Given the description of an element on the screen output the (x, y) to click on. 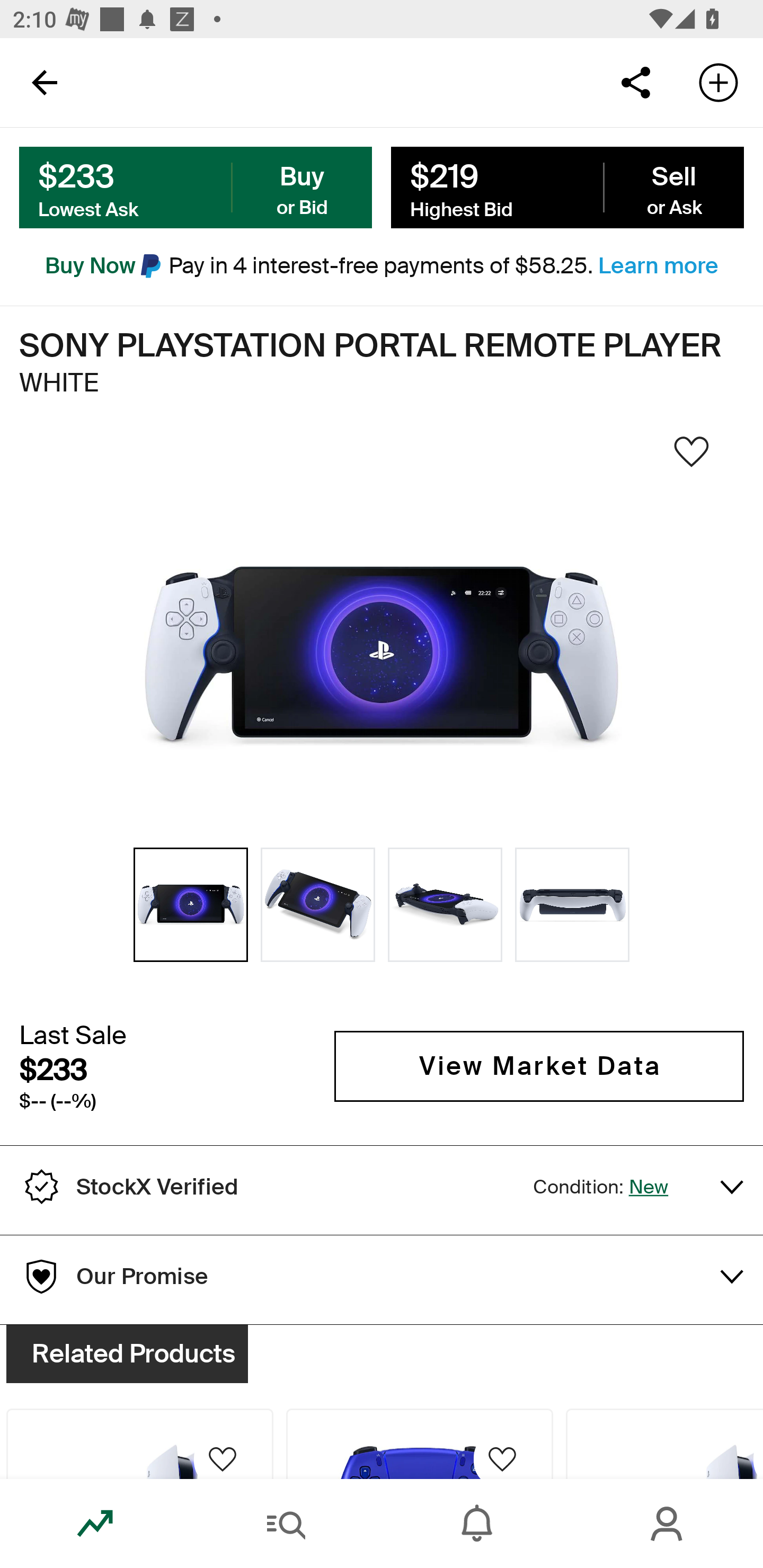
Share (635, 81)
Add (718, 81)
$233 Buy Lowest Ask or Bid (195, 187)
$219 Sell Highest Bid or Ask (566, 187)
Sneaker Image (381, 655)
View Market Data (538, 1065)
Search (285, 1523)
Inbox (476, 1523)
Account (667, 1523)
